Given the description of an element on the screen output the (x, y) to click on. 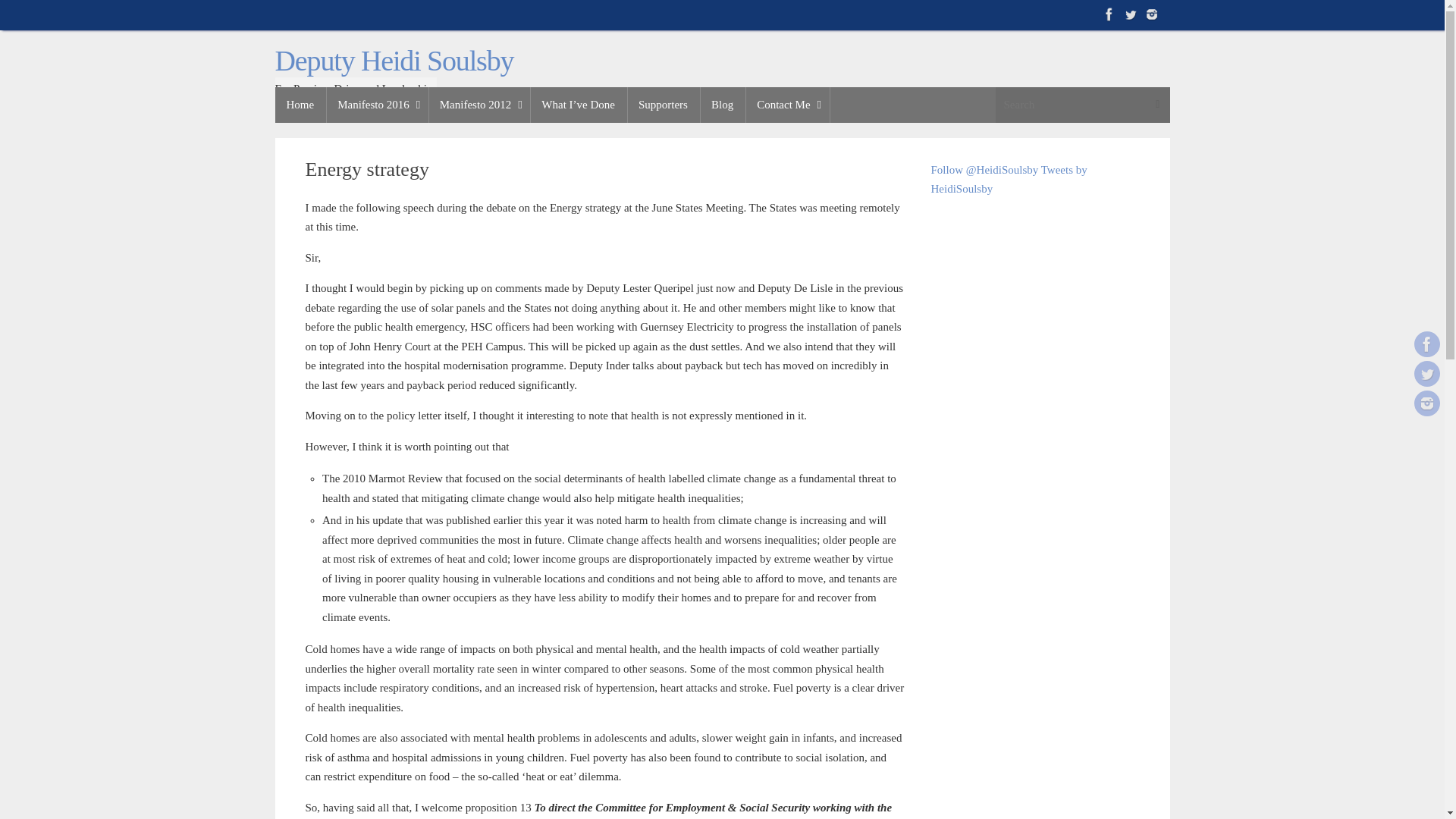
Deputy Heidi Soulsby (394, 60)
Heidi Soulsby (1129, 14)
Heidi Soulsby (1426, 373)
Manifesto 2016 (377, 104)
Heidi Soulsby (1426, 403)
Deputy Heidi Soulsby (394, 60)
Home (300, 104)
Manifesto 2012 (479, 104)
Heidi Soulsby (1426, 344)
Heidi Soulsby (1150, 14)
